Given the description of an element on the screen output the (x, y) to click on. 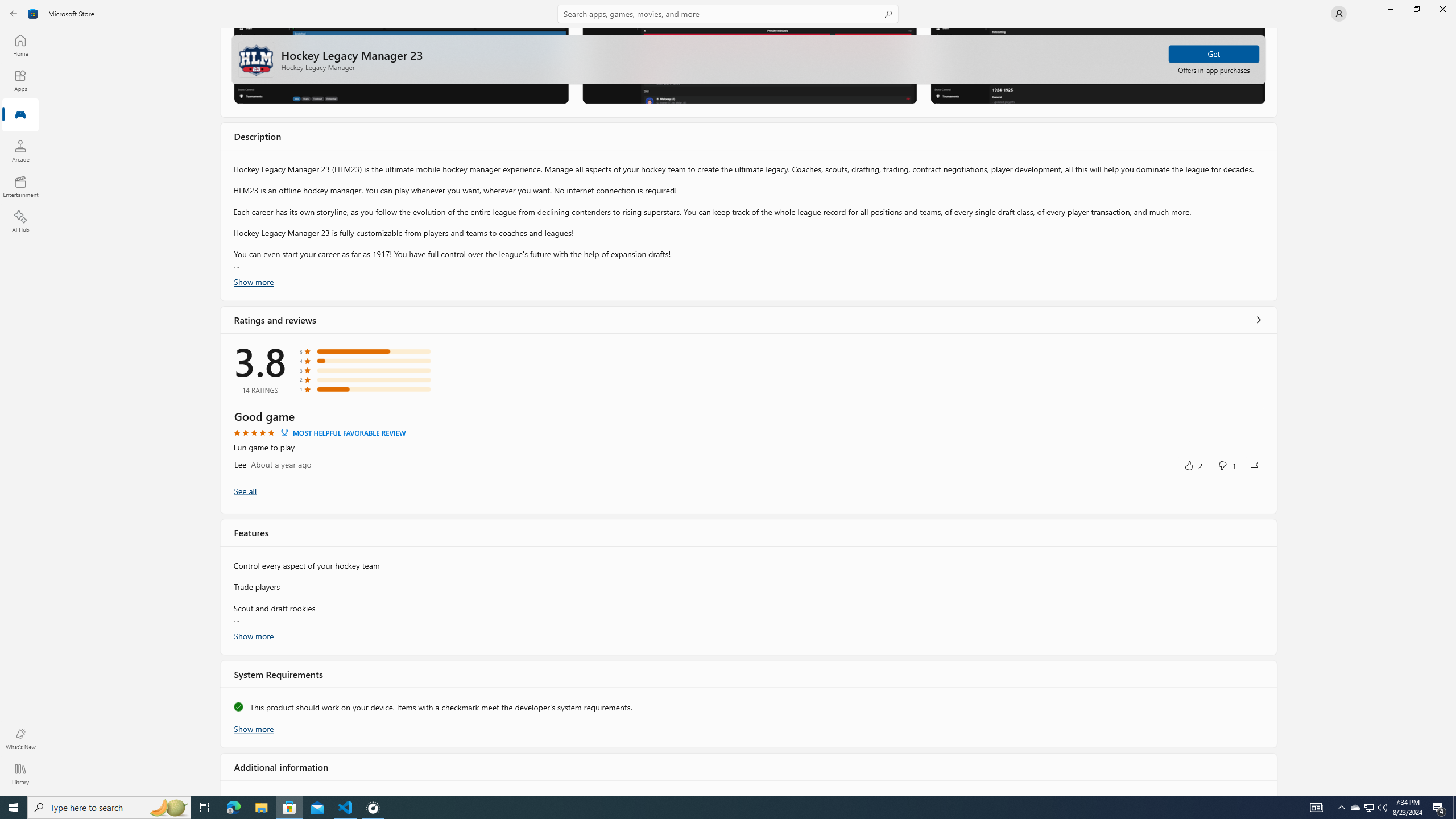
Apps (20, 80)
Show more (253, 728)
Home (20, 45)
Report review (1253, 466)
Show all ratings and reviews (1258, 318)
Screenshot 1 (400, 65)
Scroll to top (748, 59)
No, this was not helpful. 1 votes. (1226, 465)
Screenshot 2 (748, 65)
Entertainment (20, 185)
Show all ratings and reviews (244, 490)
Yes, this was helpful. 2 votes. (1192, 465)
Minimize Microsoft Store (1390, 9)
